Given the description of an element on the screen output the (x, y) to click on. 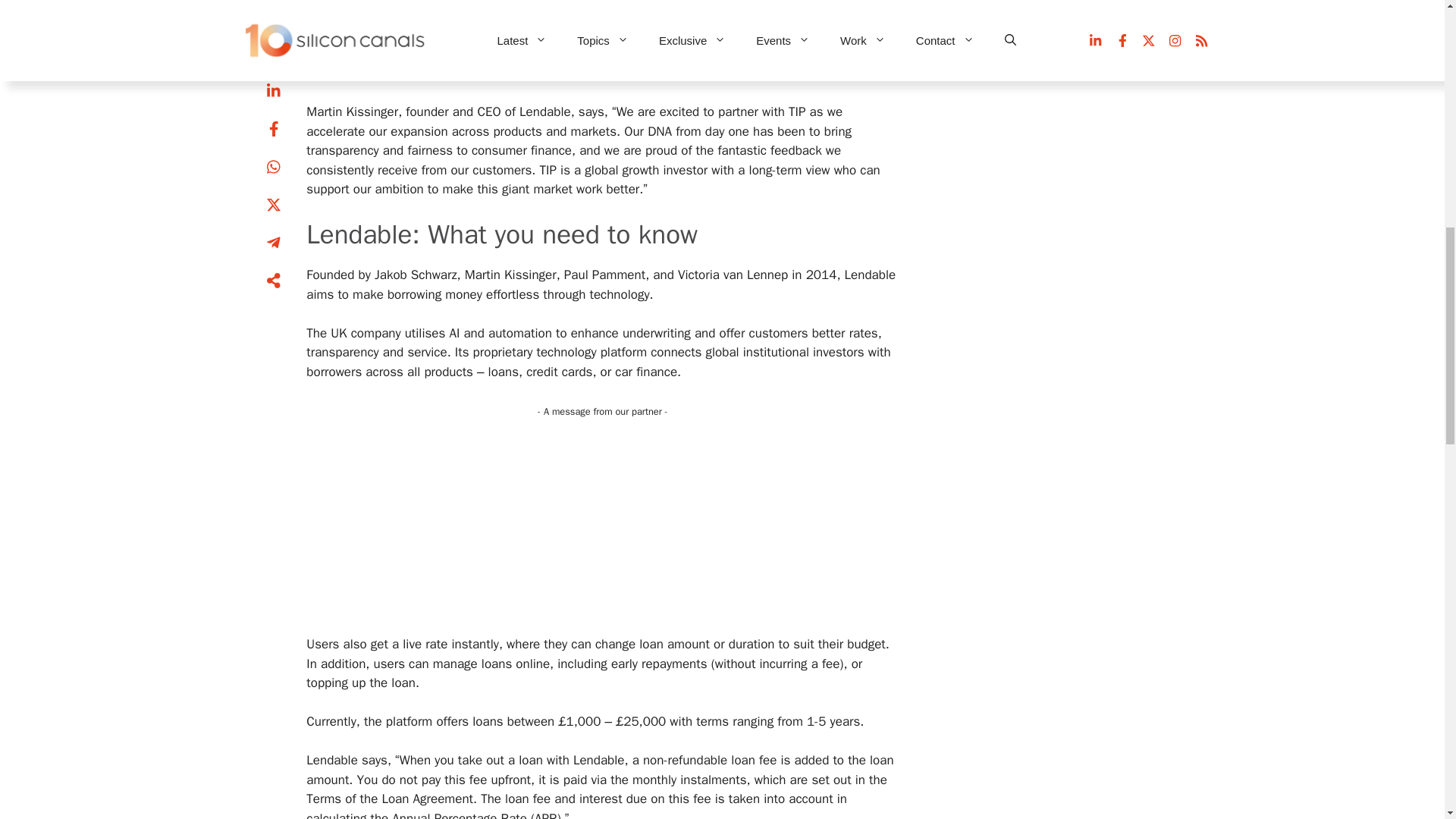
Scroll back to top (1406, 720)
